Given the description of an element on the screen output the (x, y) to click on. 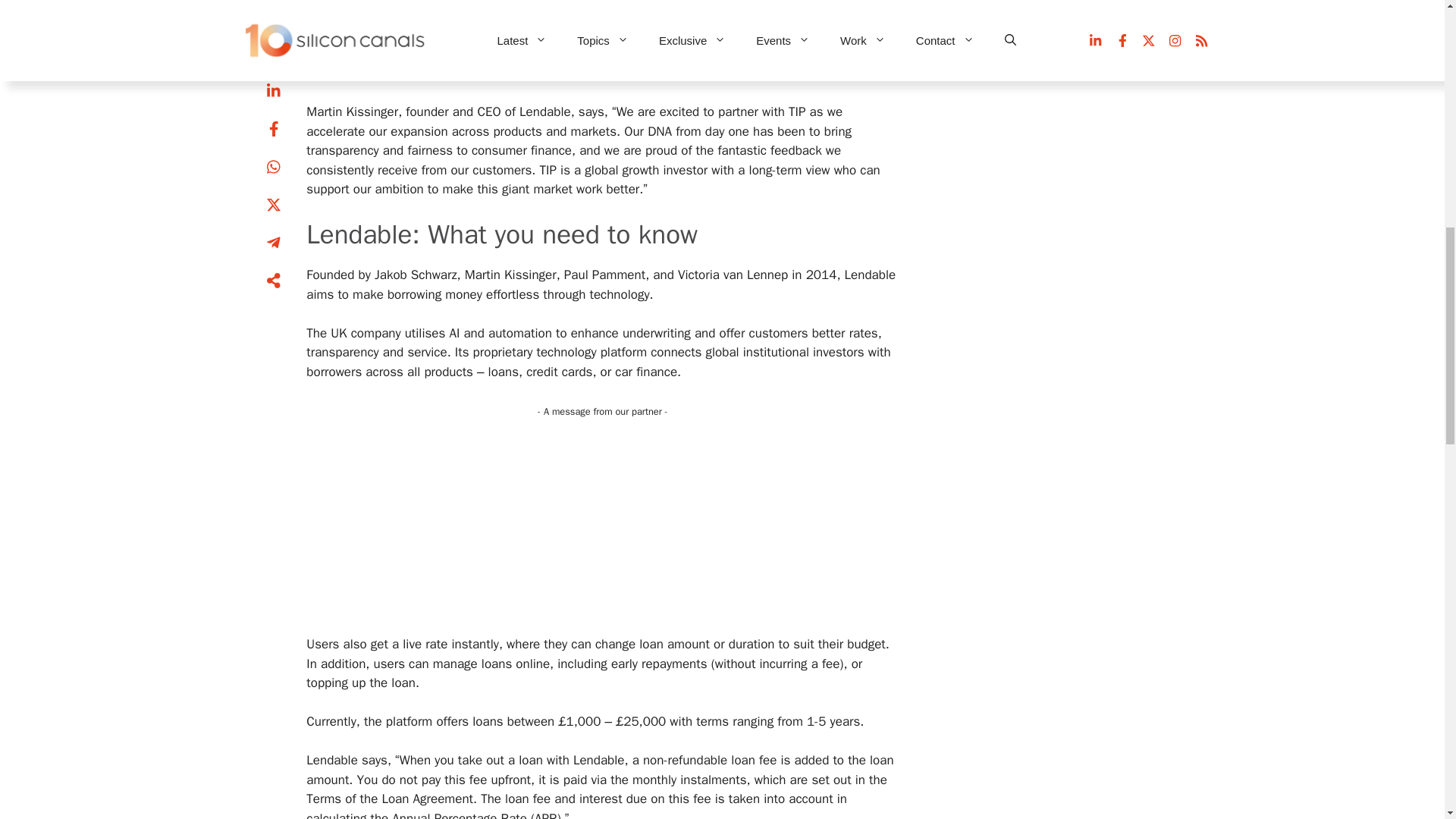
Scroll back to top (1406, 720)
